Given the description of an element on the screen output the (x, y) to click on. 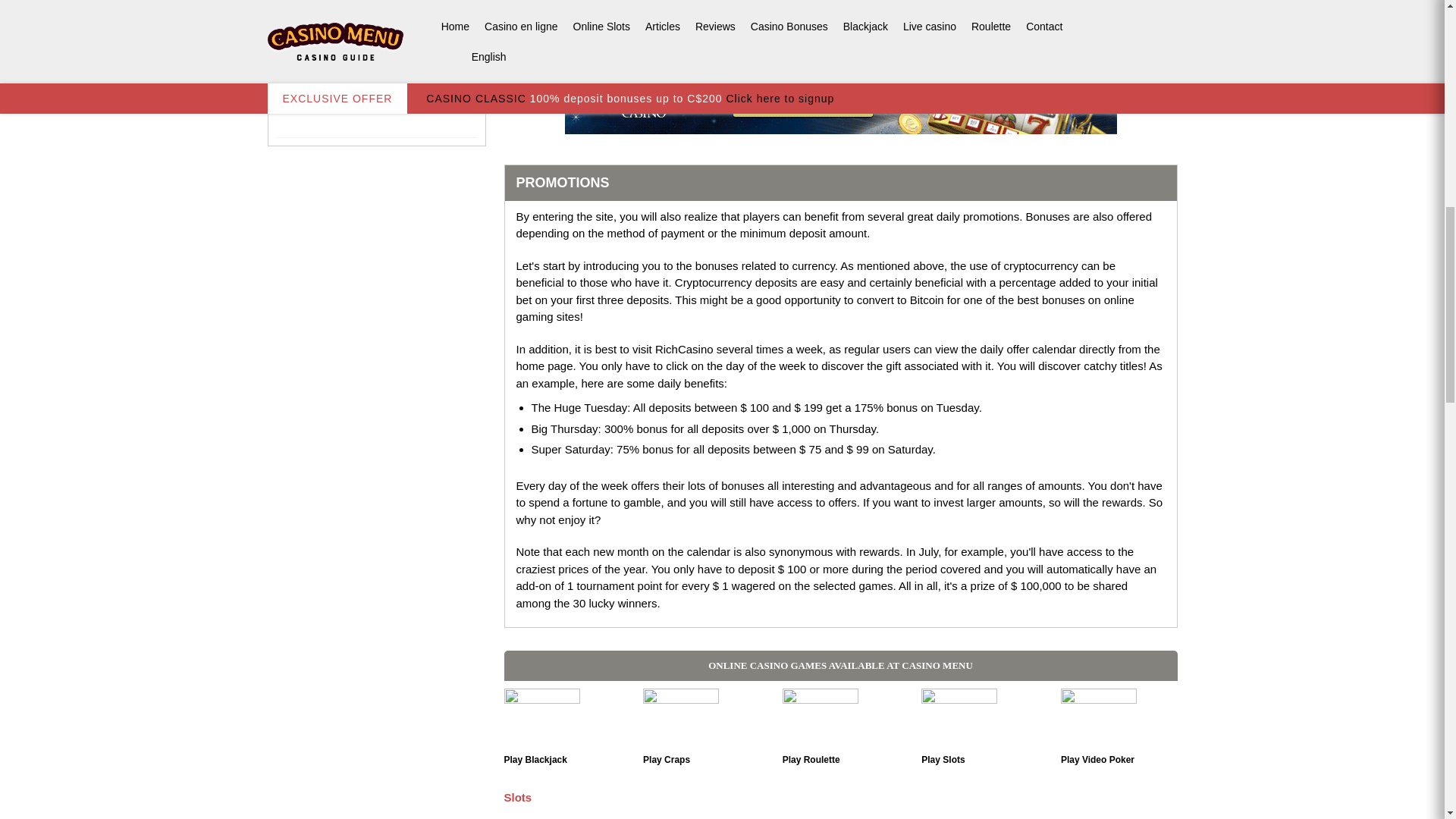
Play Craps (681, 716)
Play Slots (959, 716)
Play Roulette (821, 716)
EXCLUSIVE OFFER (376, 68)
Play Video Poker (1099, 716)
Play Blackjack (541, 716)
